Given the description of an element on the screen output the (x, y) to click on. 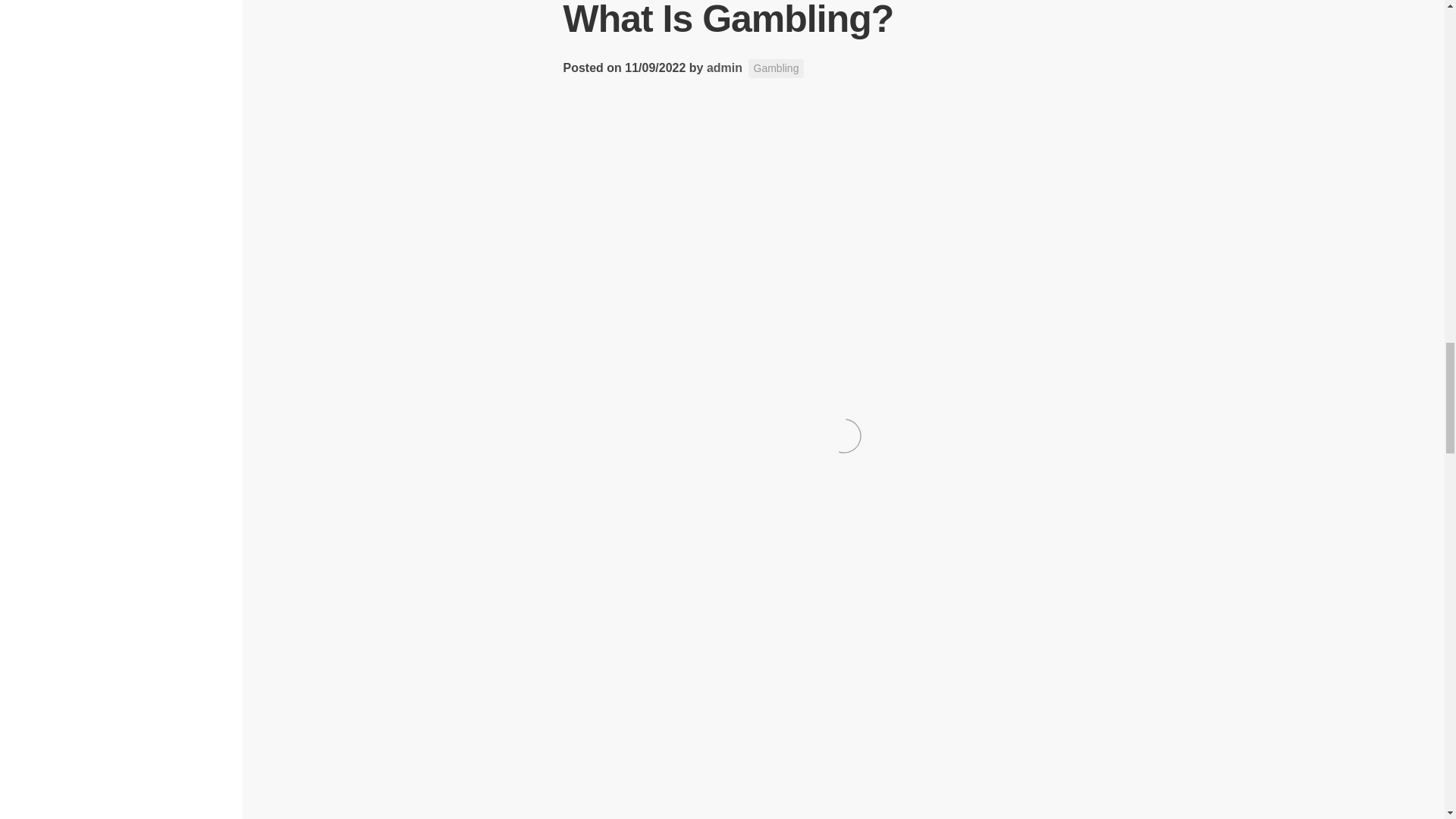
togel hongkong (611, 305)
Gambling (776, 67)
admin (724, 67)
What Is Gambling? (727, 20)
Posts by admin (724, 67)
